Given the description of an element on the screen output the (x, y) to click on. 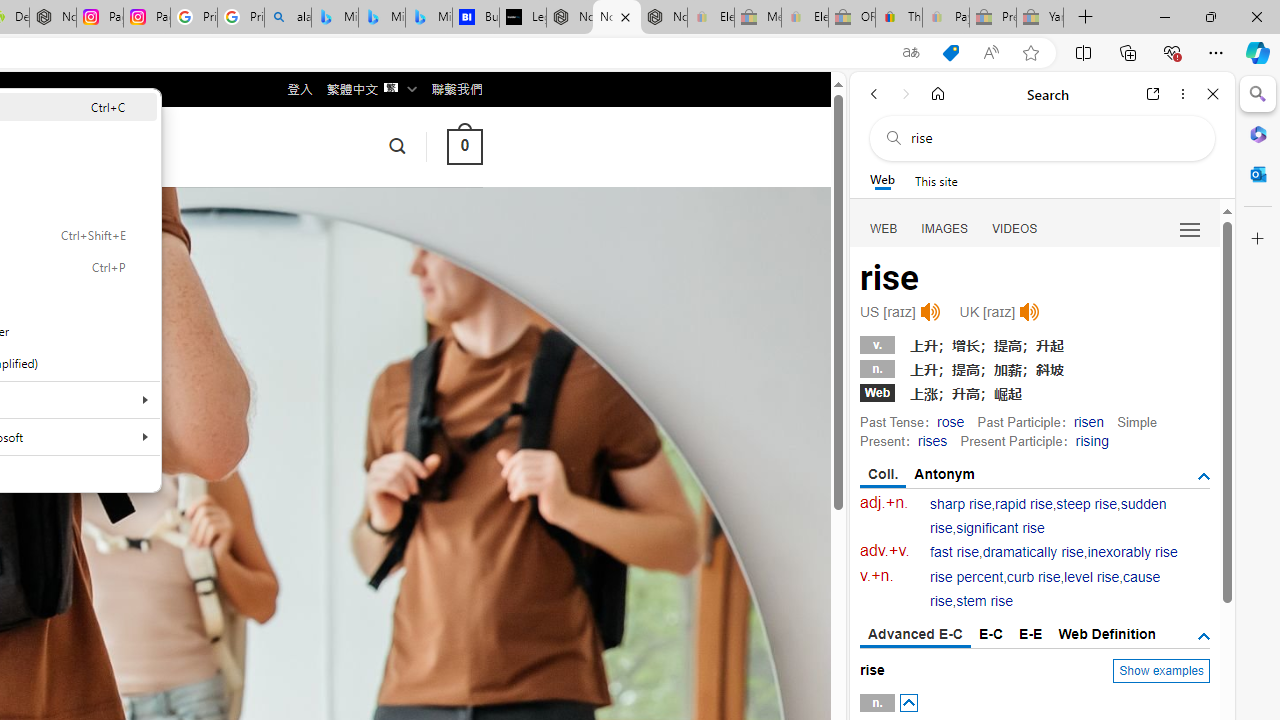
Microsoft Bing Travel - Shangri-La Hotel Bangkok (428, 17)
